Given the description of an element on the screen output the (x, y) to click on. 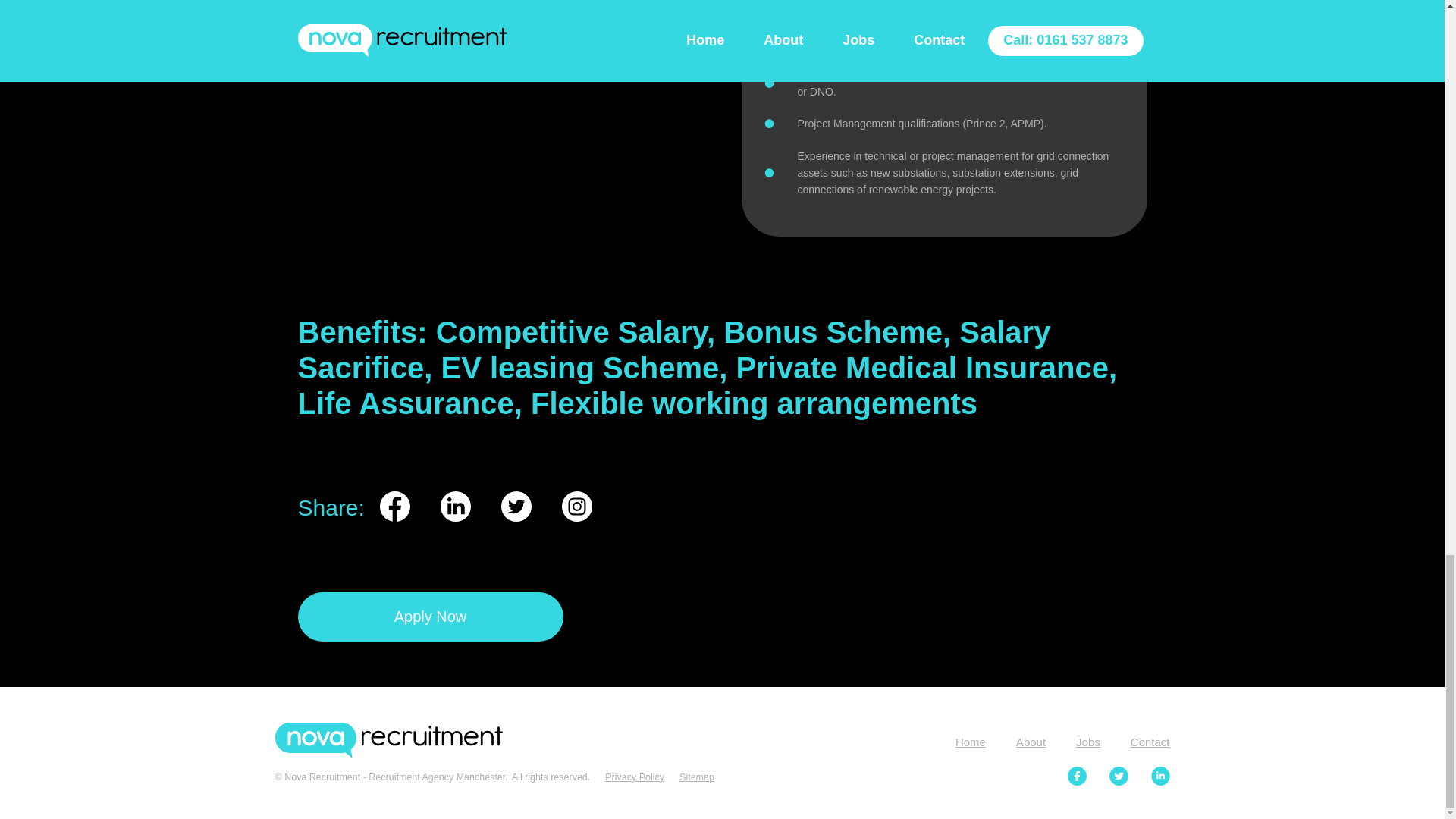
Jobs (1087, 741)
Home (970, 741)
Contact (1150, 741)
About (1030, 741)
Privacy Policy (634, 777)
Sitemap (696, 777)
Apply Now (429, 616)
